Given the description of an element on the screen output the (x, y) to click on. 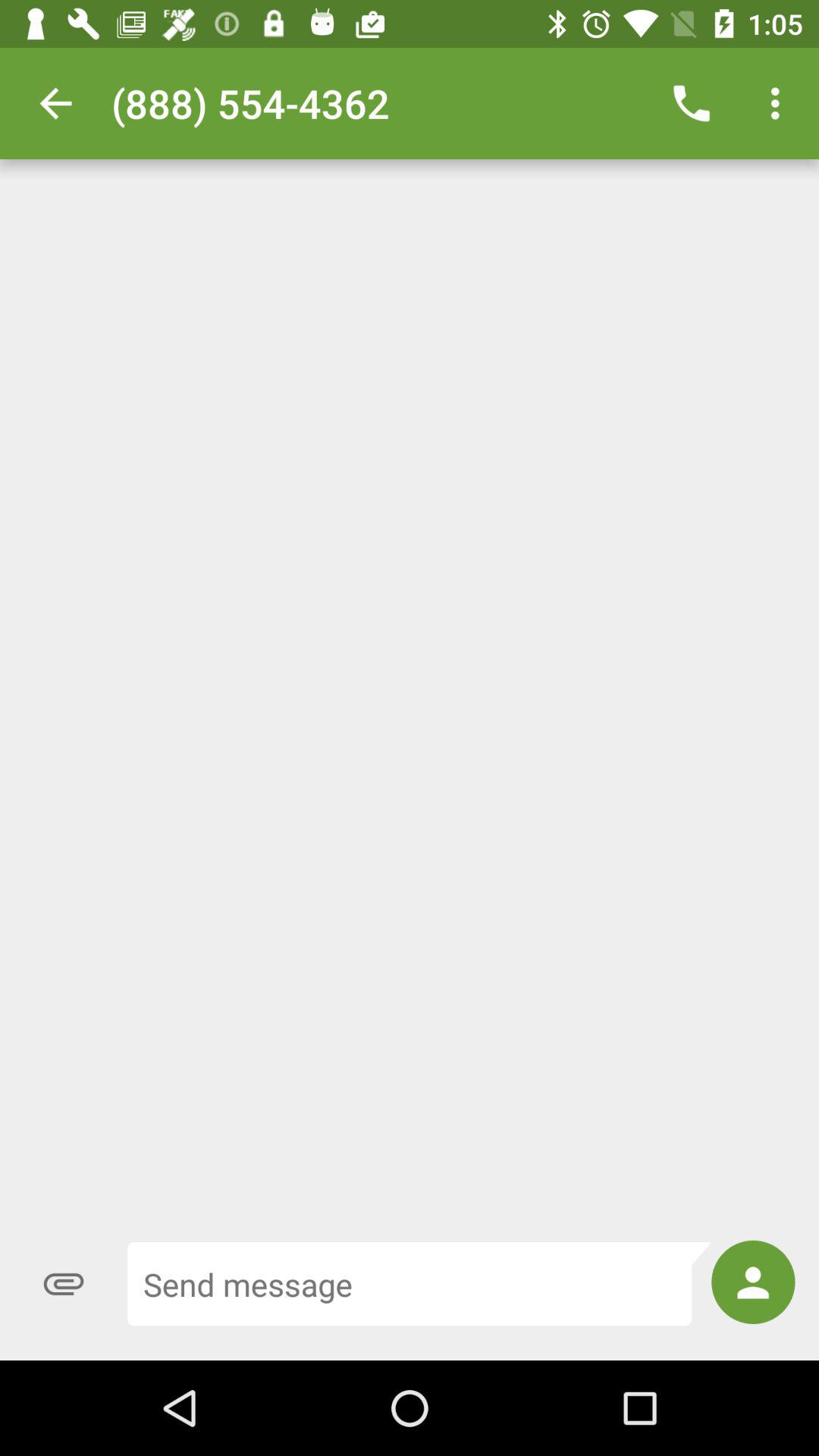
turn on the icon at the bottom right corner (753, 1282)
